Given the description of an element on the screen output the (x, y) to click on. 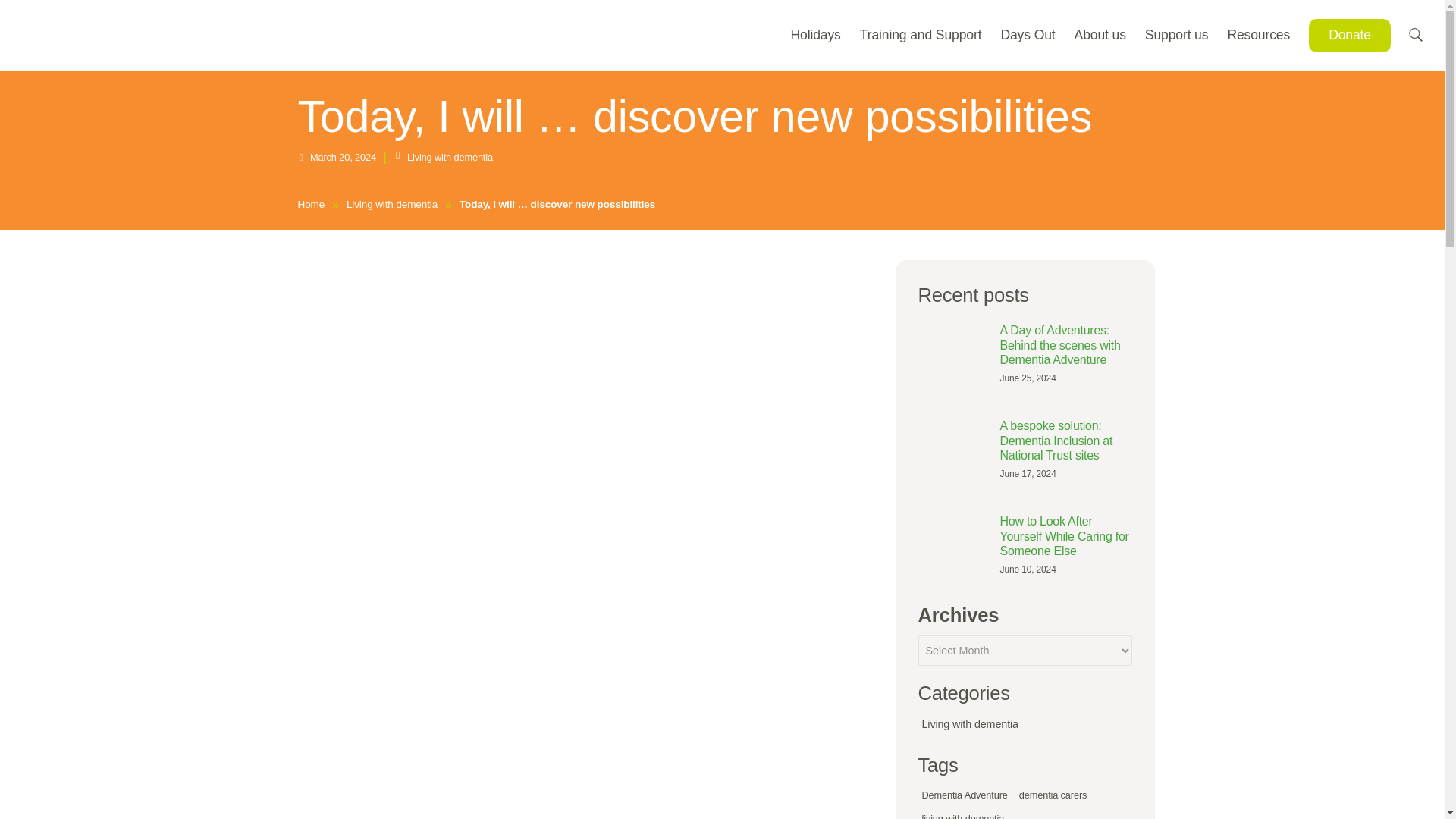
Support us (1166, 35)
How to Look After Yourself While Caring for Someone Else (952, 531)
About us (1090, 35)
Holidays (805, 35)
Support us (1166, 35)
About us (1090, 35)
Training and Support (911, 35)
Resources (1249, 35)
Home (310, 204)
Training and Support (911, 35)
Days Out (1017, 35)
Days Out (1017, 35)
Holidays (805, 35)
